Given the description of an element on the screen output the (x, y) to click on. 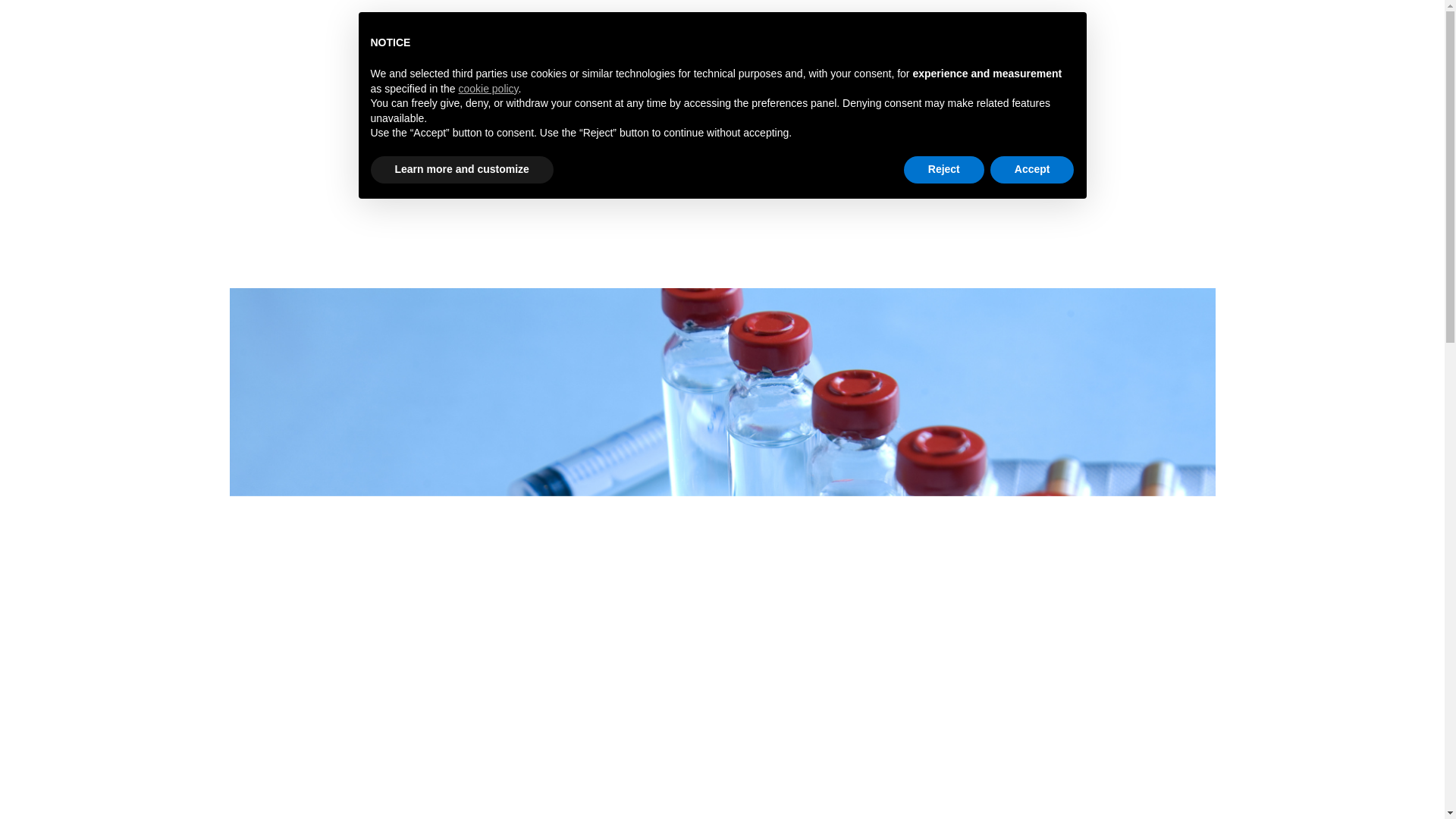
Learn more and customize (461, 169)
Accept (1032, 169)
cookie policy (488, 88)
Reject (944, 169)
AUDITING PROCESS (949, 55)
